Given the description of an element on the screen output the (x, y) to click on. 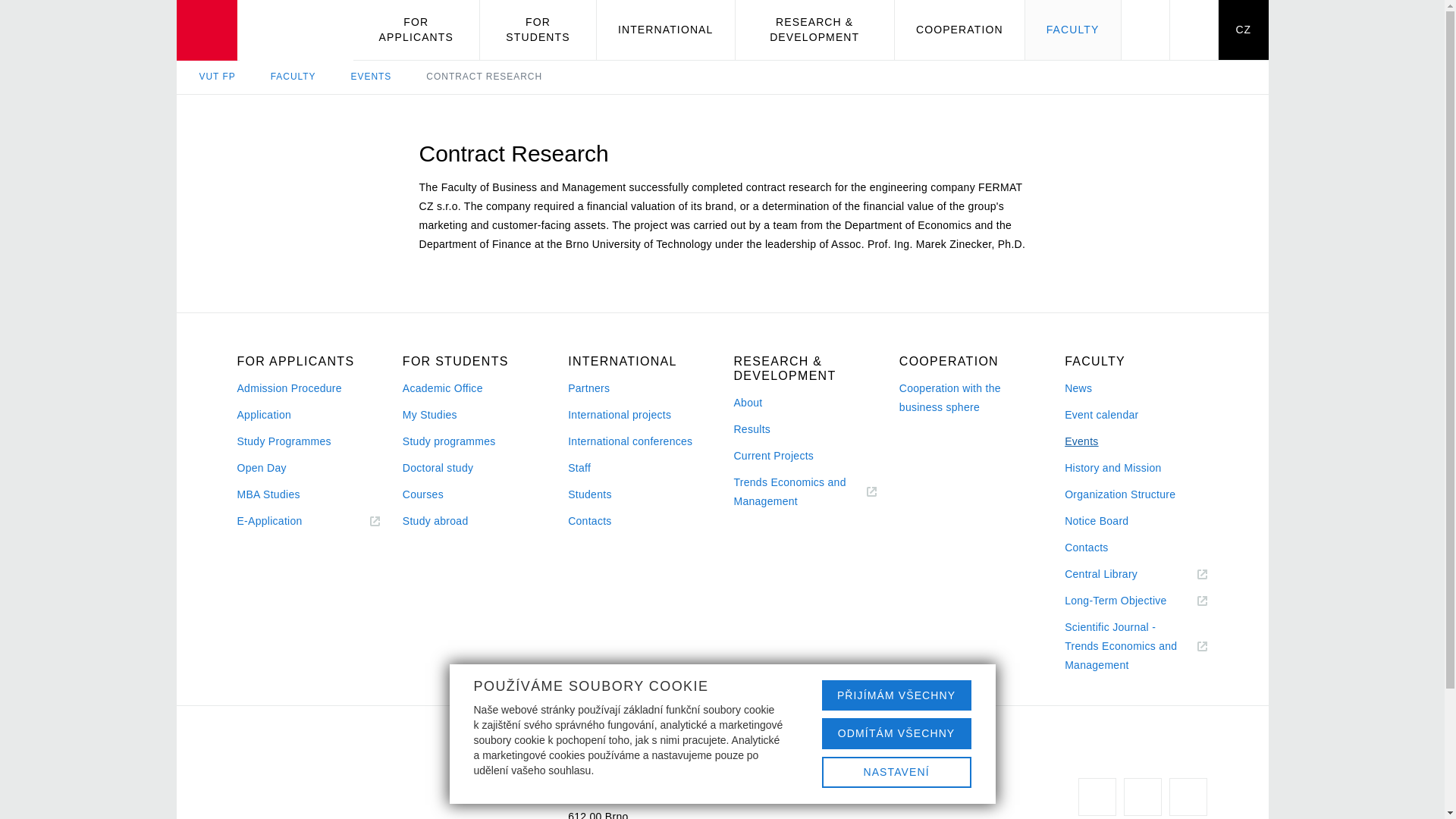
FACULTY (1073, 29)
VUT Brno (264, 30)
FOR STUDENTS (537, 29)
COOPERATION (960, 29)
FOR APPLICANTS (416, 29)
INTERNATIONAL (665, 29)
